Given the description of an element on the screen output the (x, y) to click on. 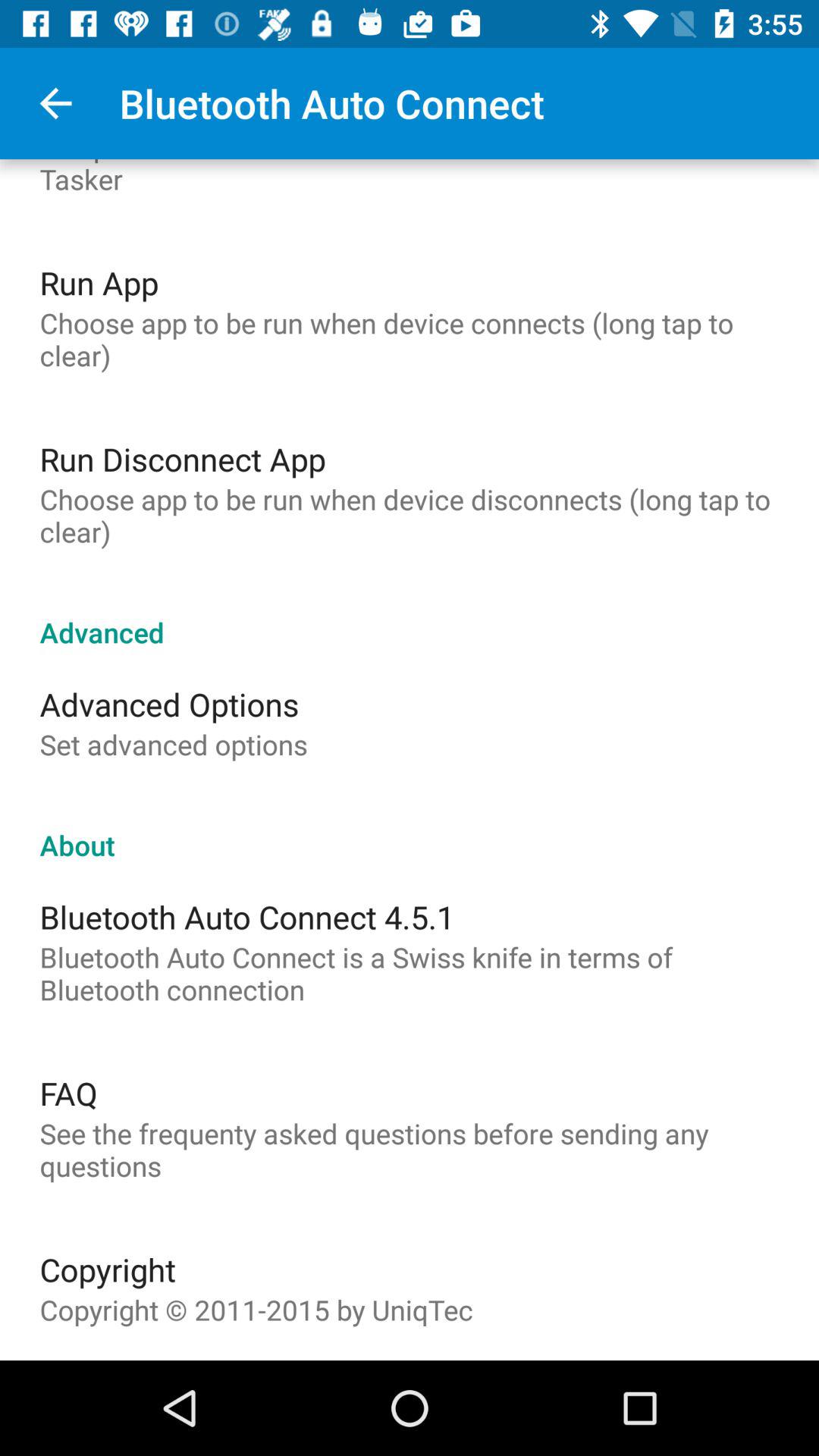
select faq item (68, 1092)
